Given the description of an element on the screen output the (x, y) to click on. 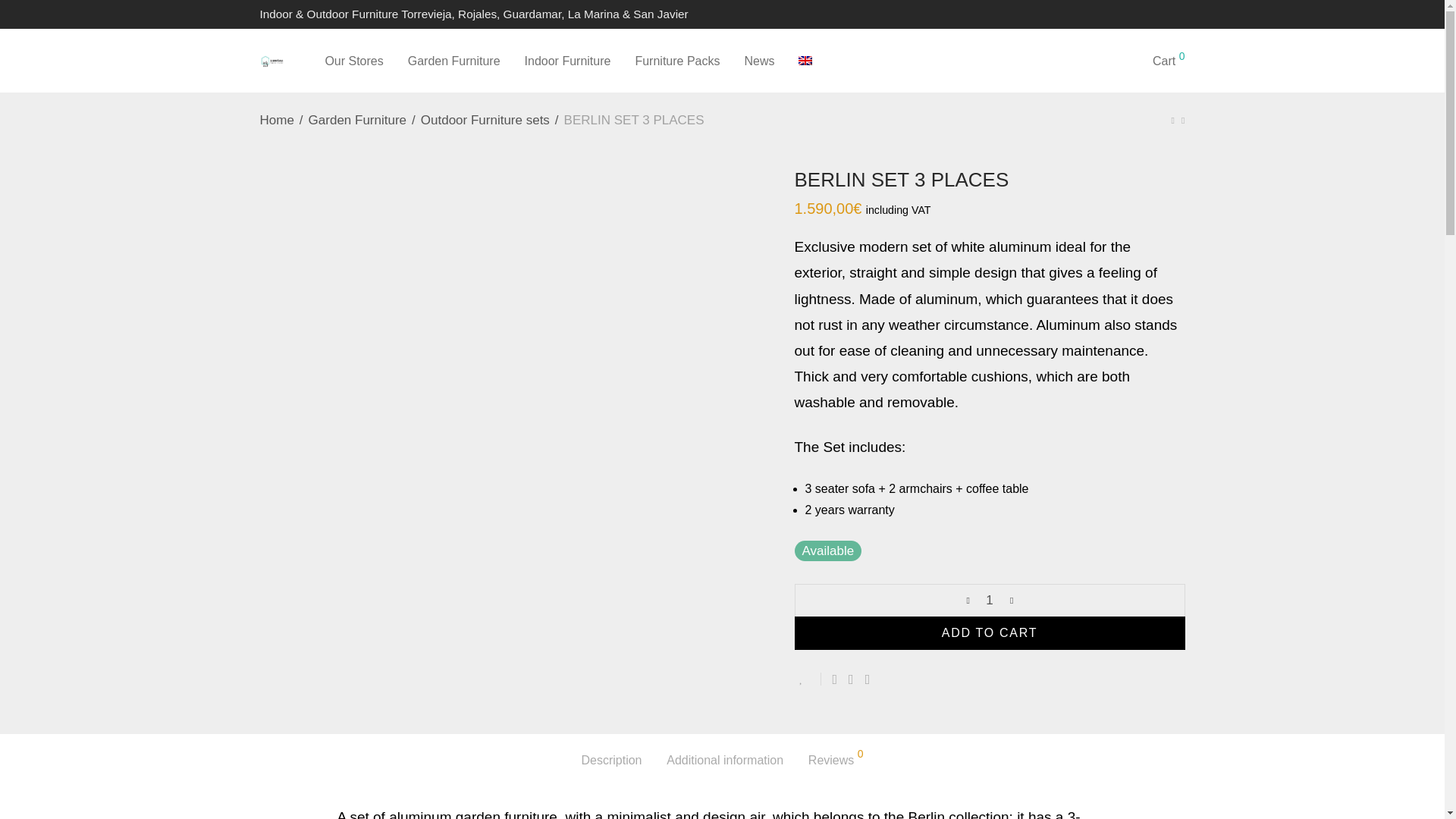
Cart 0 (1168, 61)
Outdoor Furniture sets (485, 120)
ADD TO CART (989, 633)
Garden Furniture (357, 120)
Description (611, 760)
News (759, 61)
Indoor Furniture (567, 61)
Add to Wishlist (807, 678)
Garden Furniture (454, 61)
Our Stores (353, 61)
